Given the description of an element on the screen output the (x, y) to click on. 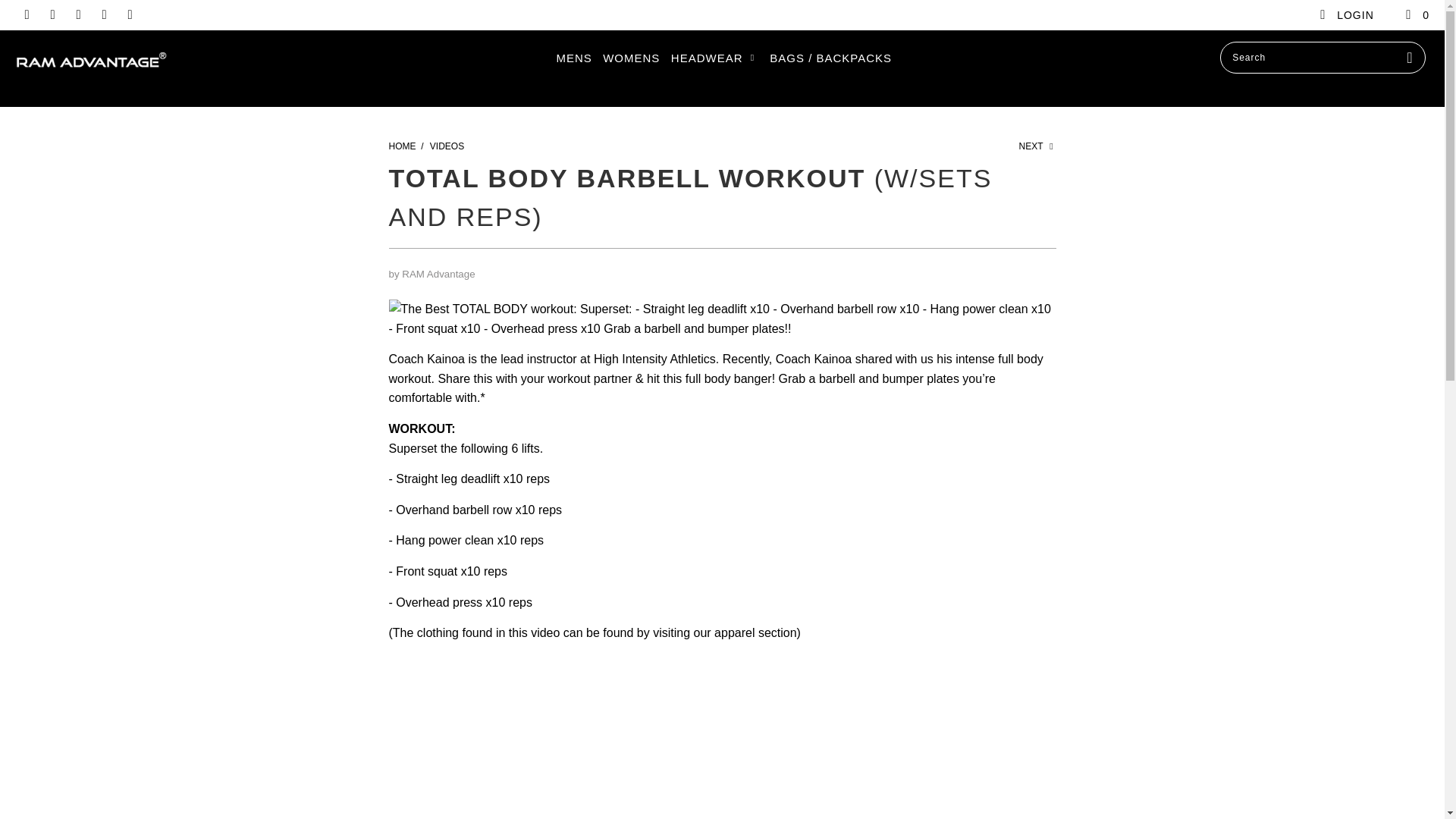
Videos (446, 145)
HEADWEAR (714, 57)
LOGIN (1345, 15)
High Intensity Athletics (655, 358)
WOMENS (630, 58)
MENS (573, 58)
My Account  (1345, 15)
RAM Advantage apparel  (755, 632)
